Given the description of an element on the screen output the (x, y) to click on. 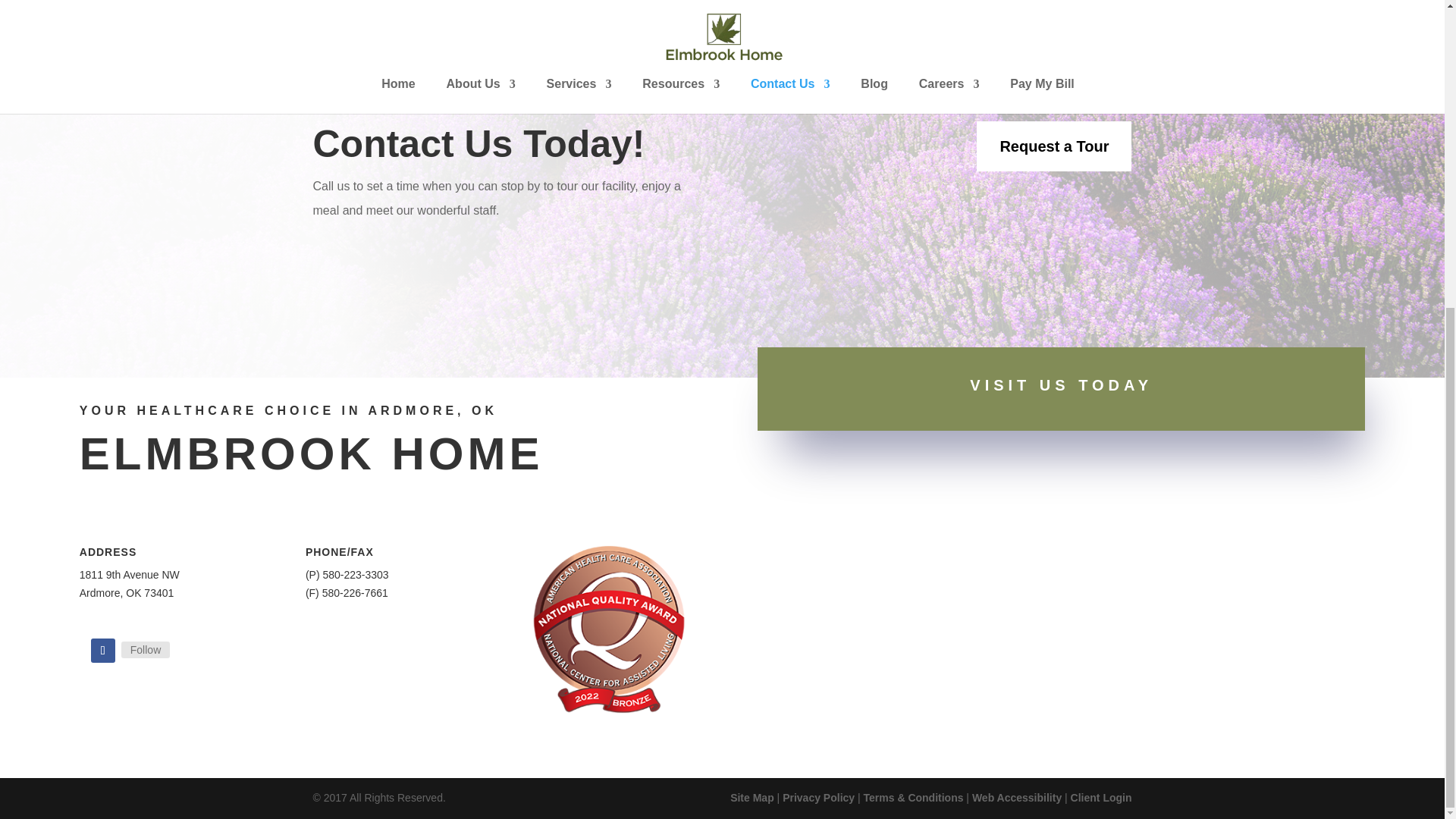
Follow (102, 650)
Site Map (752, 797)
Request a Tour (1053, 146)
Follow on Facebook (102, 650)
Web Accessibility (1016, 797)
Client Login (1101, 797)
Privacy Policy (818, 797)
qualityaward-230x250-22bronze (609, 629)
Follow (145, 649)
Facebook (145, 649)
